Given the description of an element on the screen output the (x, y) to click on. 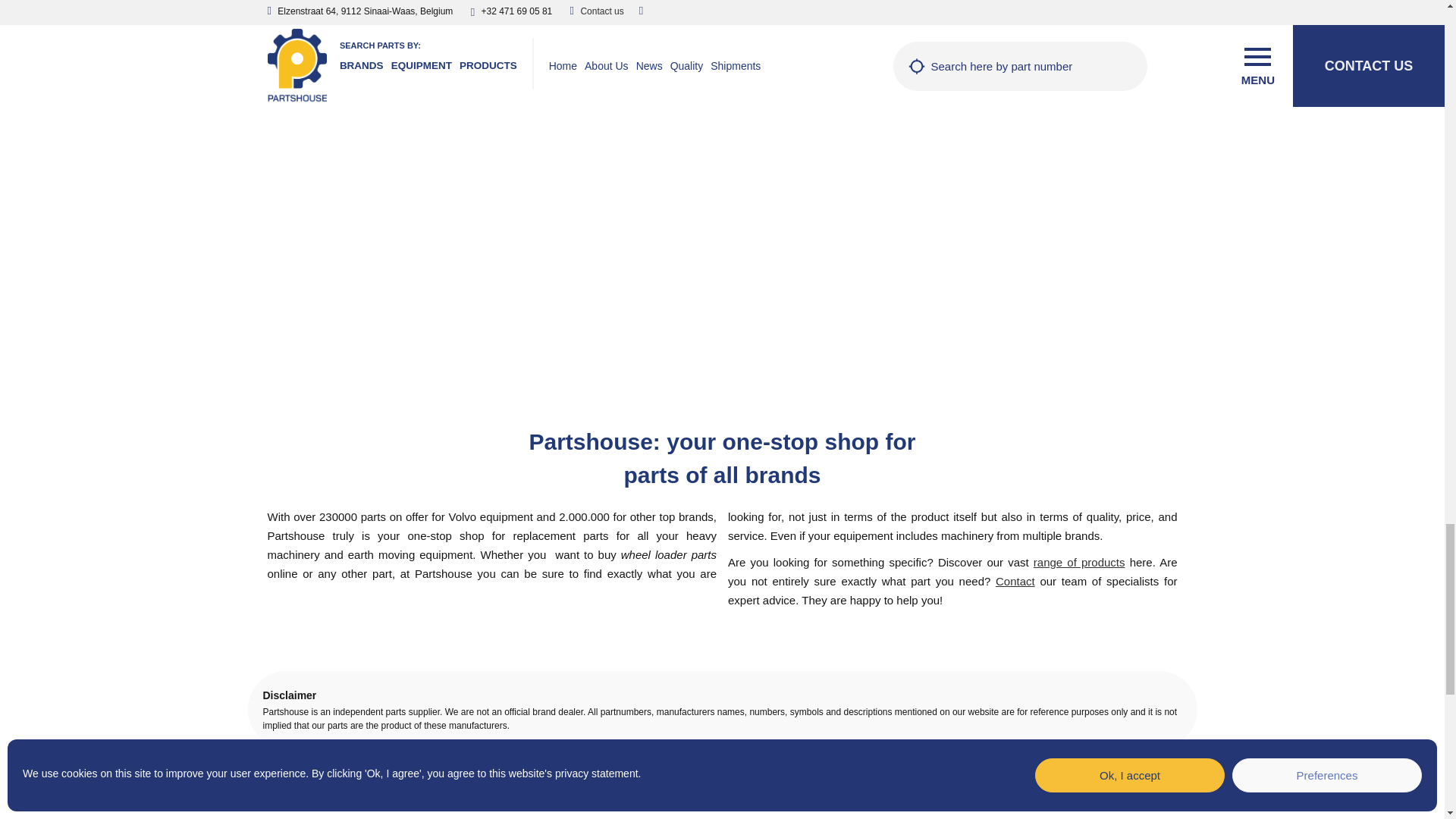
Need help? (1015, 581)
discover our products here (1079, 562)
